Given the description of an element on the screen output the (x, y) to click on. 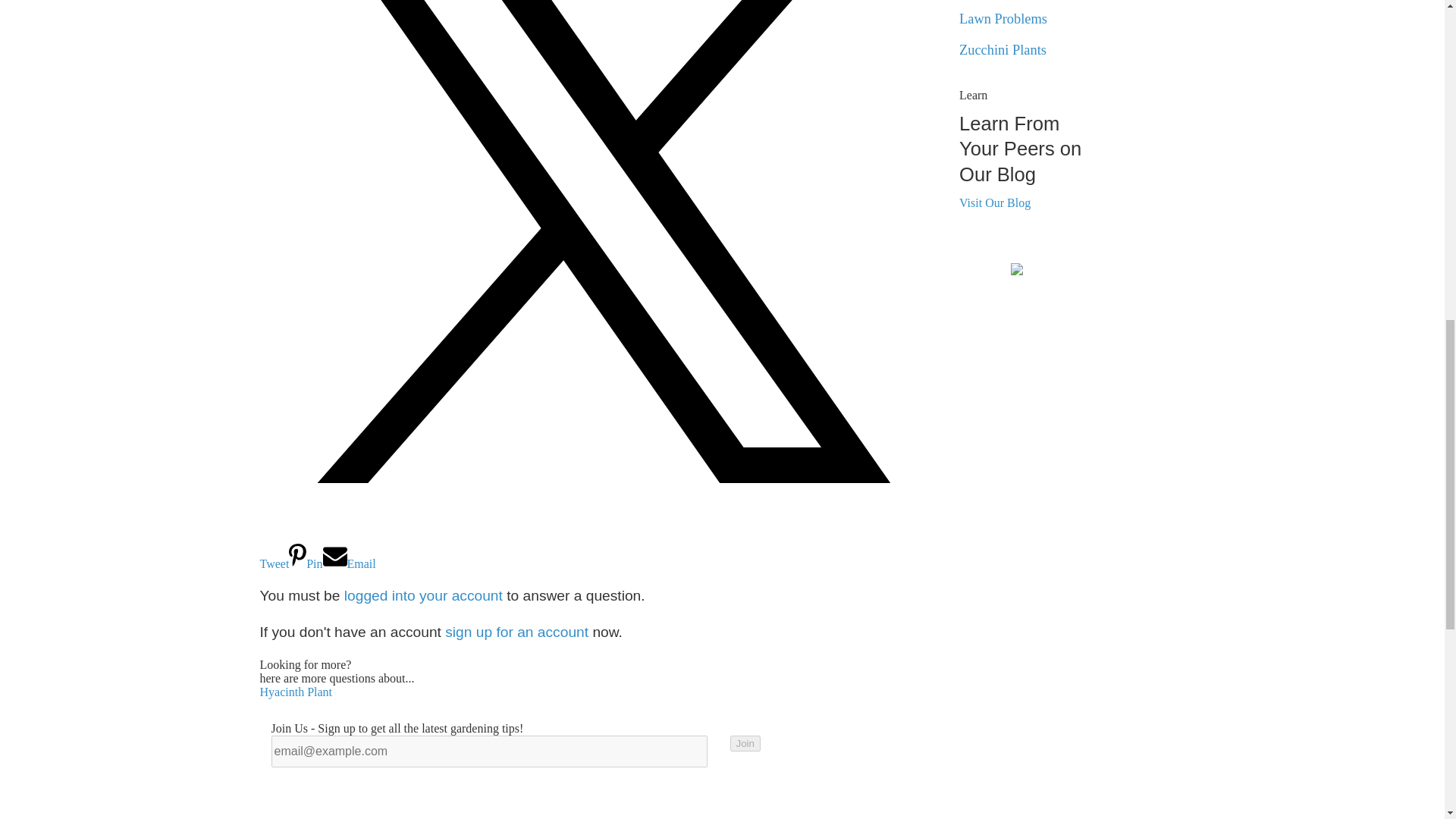
Share via Email (349, 563)
sign up for an account (516, 631)
Pin (304, 563)
Email (349, 563)
Join (744, 743)
Share on Twitter (603, 549)
Share on Pinterest (304, 563)
logged into your account (422, 595)
Hyacinth Plant (295, 691)
Tweet (603, 549)
